Given the description of an element on the screen output the (x, y) to click on. 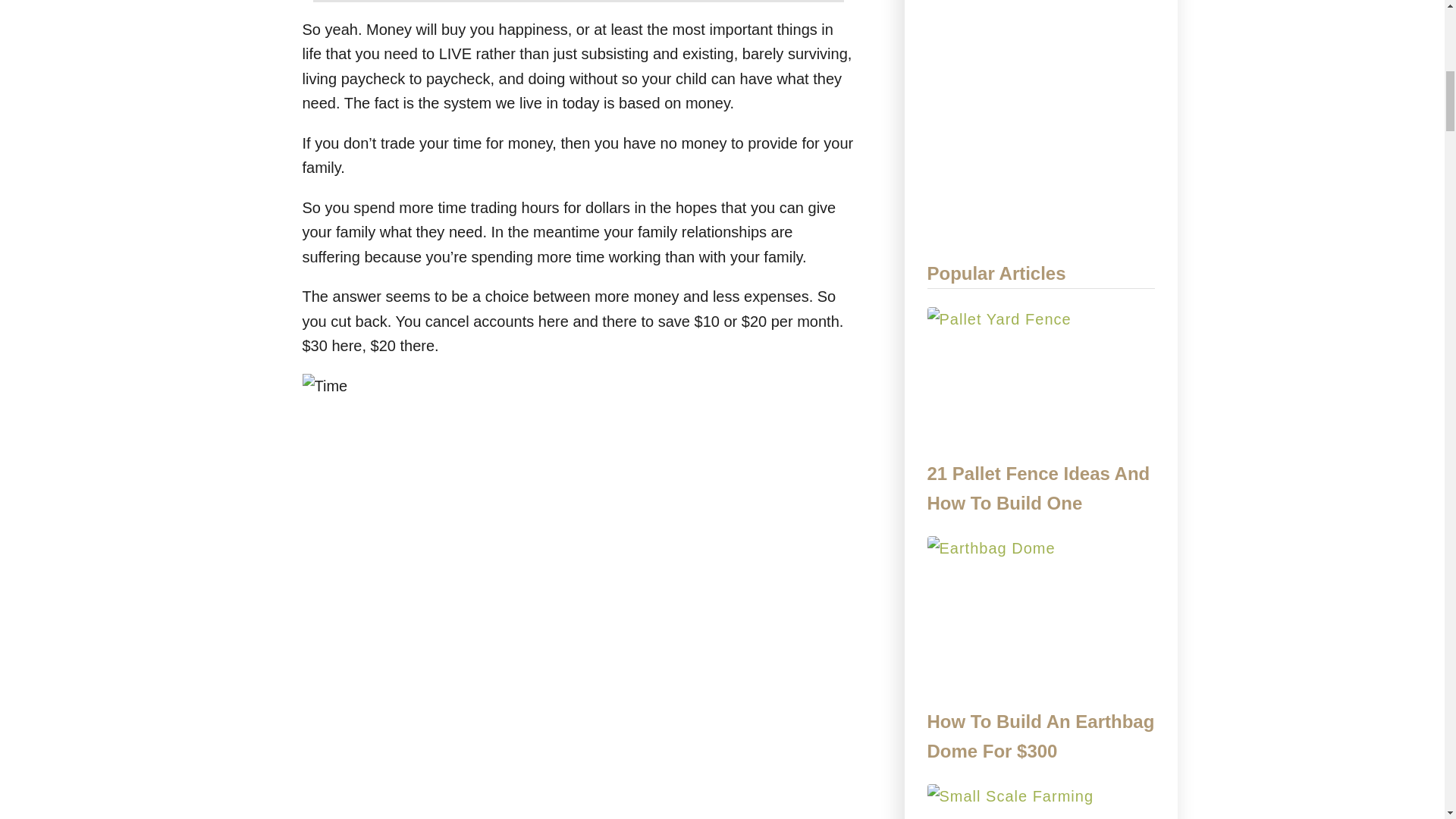
21 Pallet Fence Ideas And How To Build One (1040, 382)
21 Pallet Fence Ideas And How To Build One (1040, 487)
